Given the description of an element on the screen output the (x, y) to click on. 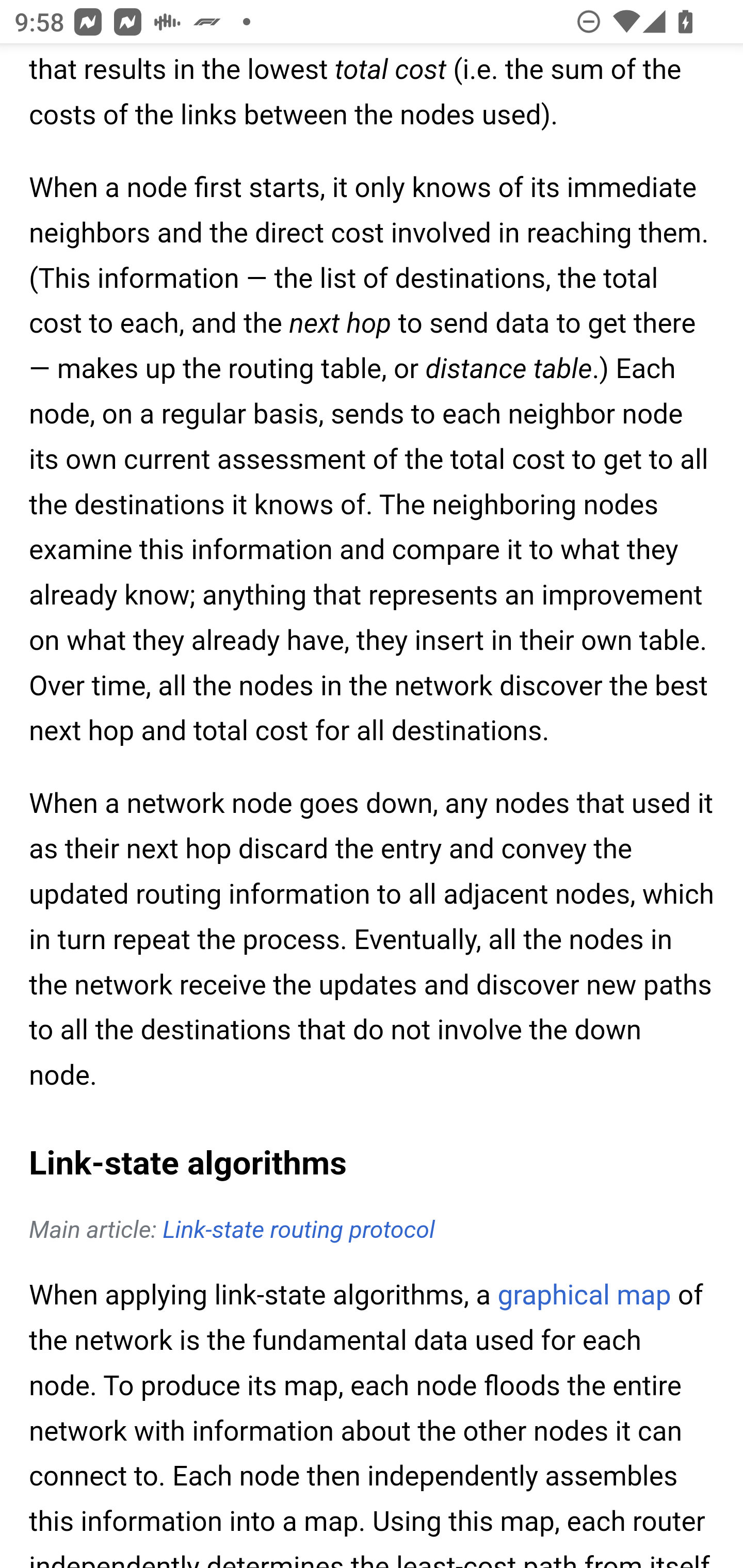
Link-state routing protocol (298, 1230)
graphical map (583, 1296)
